Given the description of an element on the screen output the (x, y) to click on. 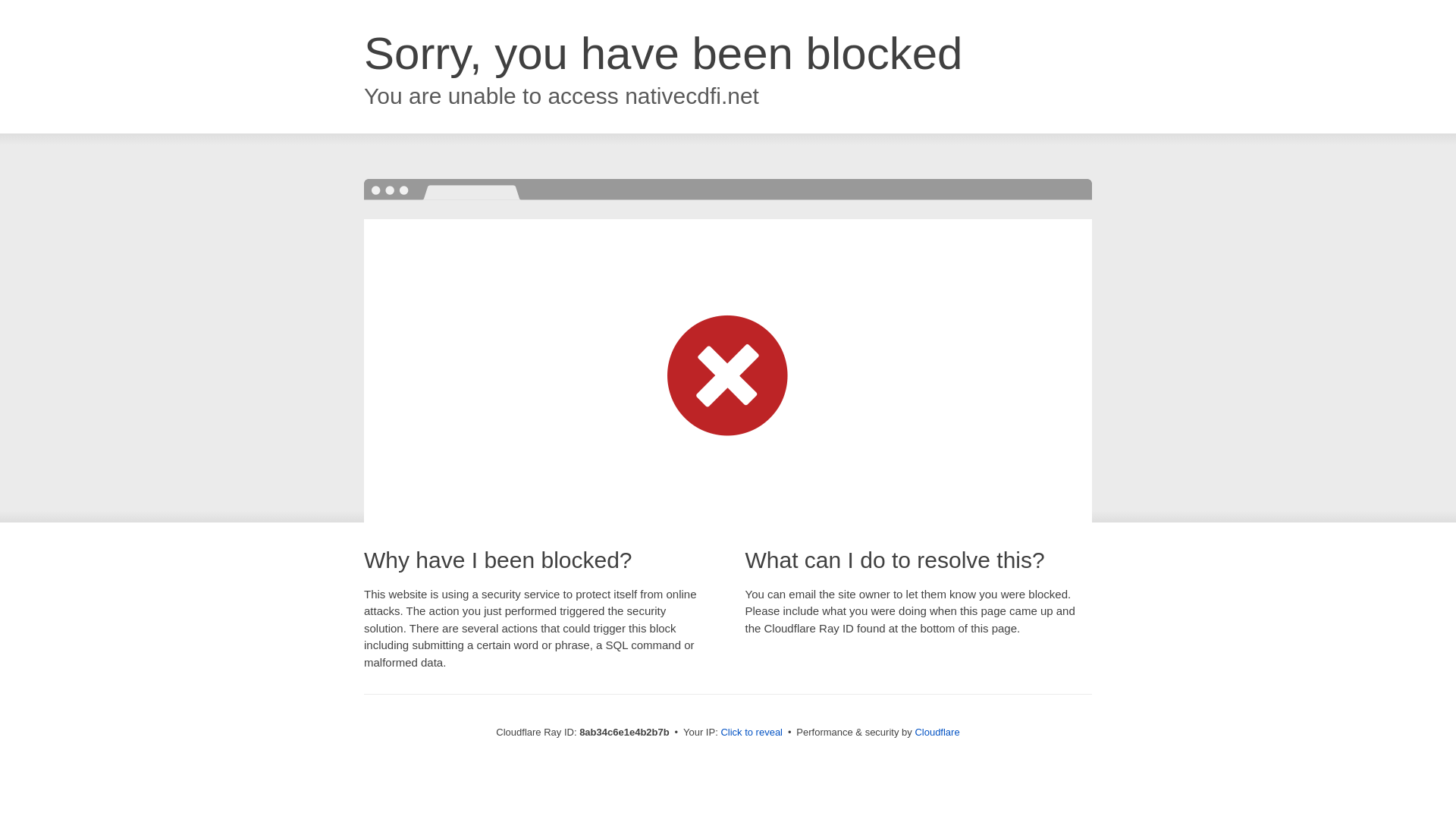
Cloudflare (936, 731)
Click to reveal (751, 732)
